Given the description of an element on the screen output the (x, y) to click on. 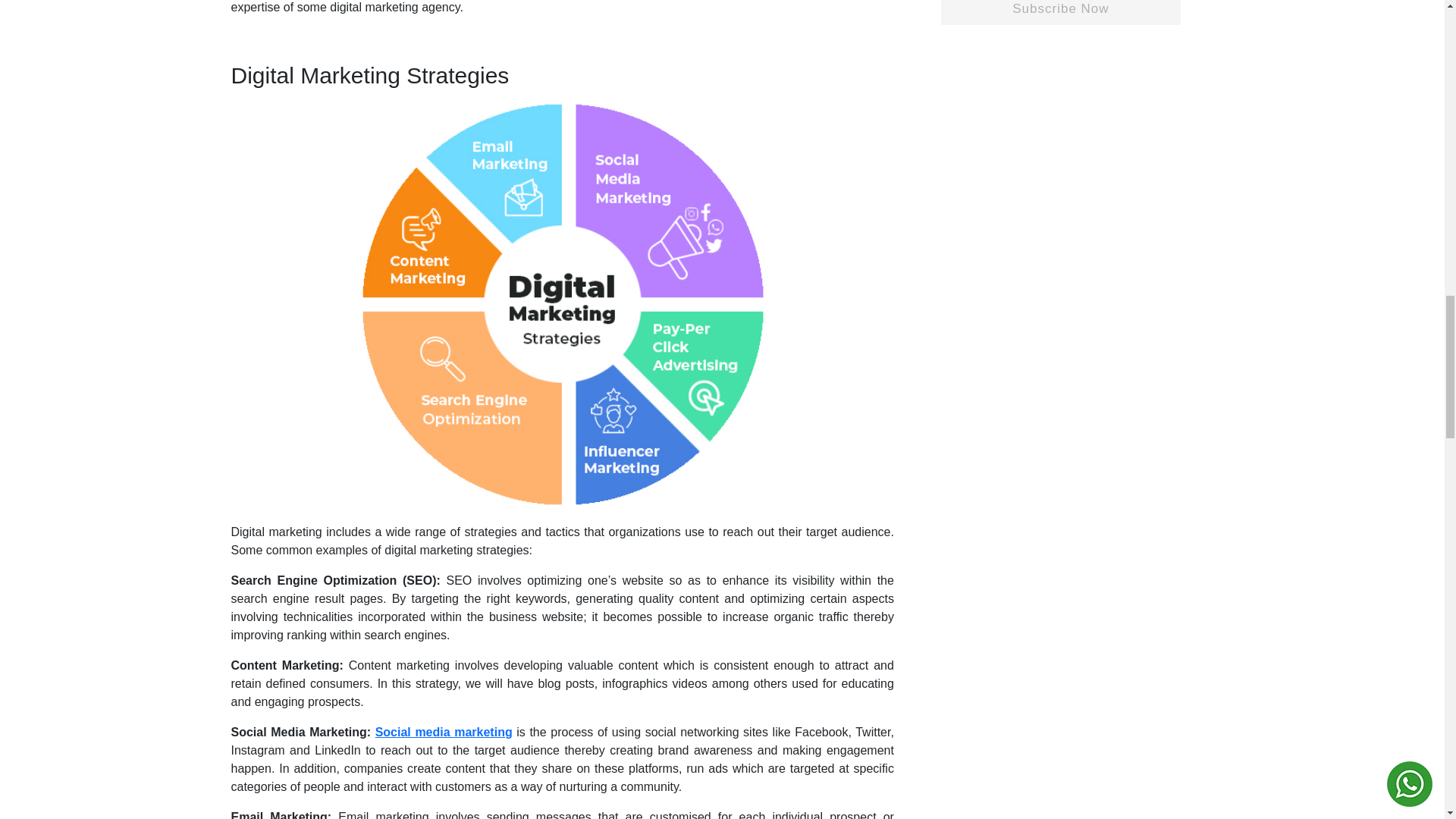
Social media marketing (443, 731)
Subscribe Now (1060, 12)
